Given the description of an element on the screen output the (x, y) to click on. 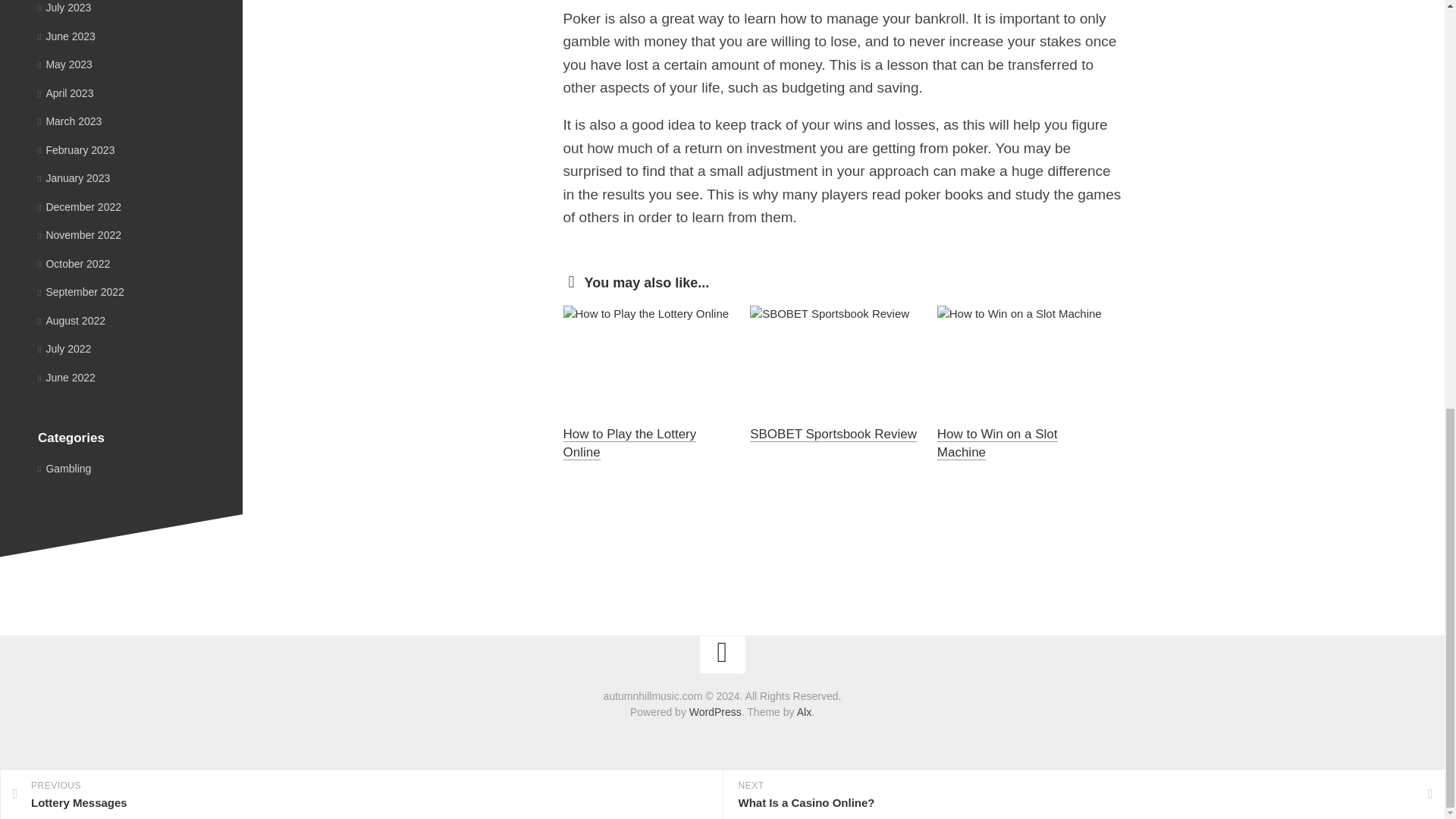
March 2023 (69, 121)
How to Play the Lottery Online (628, 442)
December 2022 (78, 205)
May 2023 (65, 64)
January 2023 (73, 177)
July 2023 (63, 7)
February 2023 (76, 150)
September 2022 (80, 291)
November 2022 (78, 234)
June 2023 (66, 36)
